Given the description of an element on the screen output the (x, y) to click on. 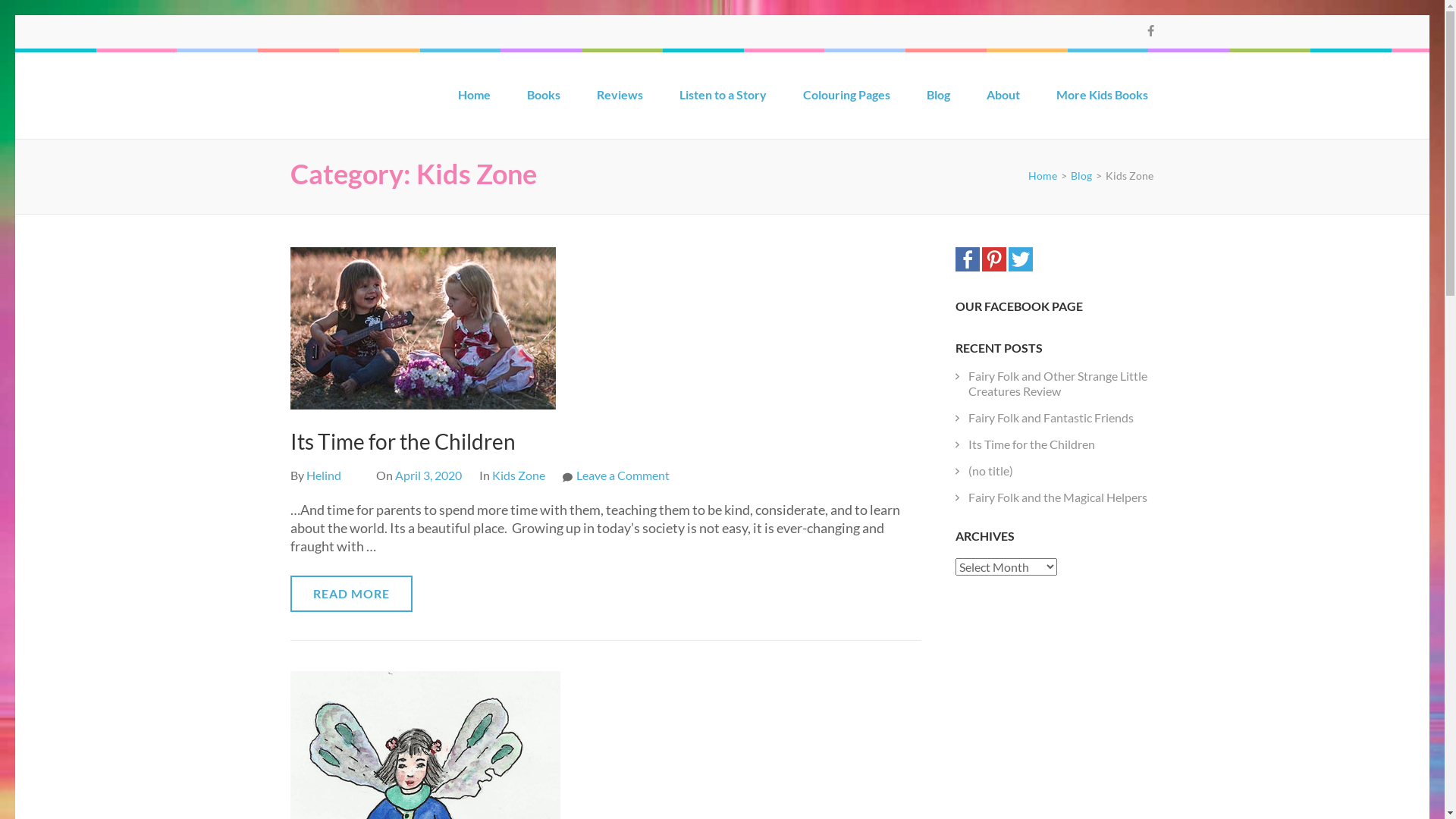
Its Time for the Children Element type: text (1031, 443)
Books Element type: text (542, 100)
Pinterest Element type: hover (994, 265)
Fairy Folk and Fantastic Friends Element type: text (1050, 417)
Its Time for the Children Element type: text (401, 441)
(no title) Element type: text (990, 470)
Helind Element type: text (323, 474)
Home Element type: text (474, 100)
READ MORE Element type: text (350, 593)
Listen to a Story Element type: text (722, 100)
Home Element type: text (1042, 175)
Fairy Folk and the Magical Helpers Element type: text (1057, 496)
Facebook Element type: hover (967, 265)
Blog Element type: text (938, 100)
Kids Zone Element type: text (517, 474)
More Kids Books Element type: text (1101, 100)
Skip to content (Press Enter) Element type: text (14, 14)
Colouring Pages Element type: text (845, 100)
Fairy Folk and Other Strange Little Creatures Review Element type: text (1057, 383)
Blog Element type: text (1081, 175)
Twitter Element type: hover (1020, 265)
Reviews Element type: text (619, 100)
Facebook Element type: hover (1150, 30)
Leave a Comment
on Its Time for the Children Element type: text (615, 474)
April 3, 2020 Element type: text (427, 474)
About Element type: text (1002, 100)
